Given the description of an element on the screen output the (x, y) to click on. 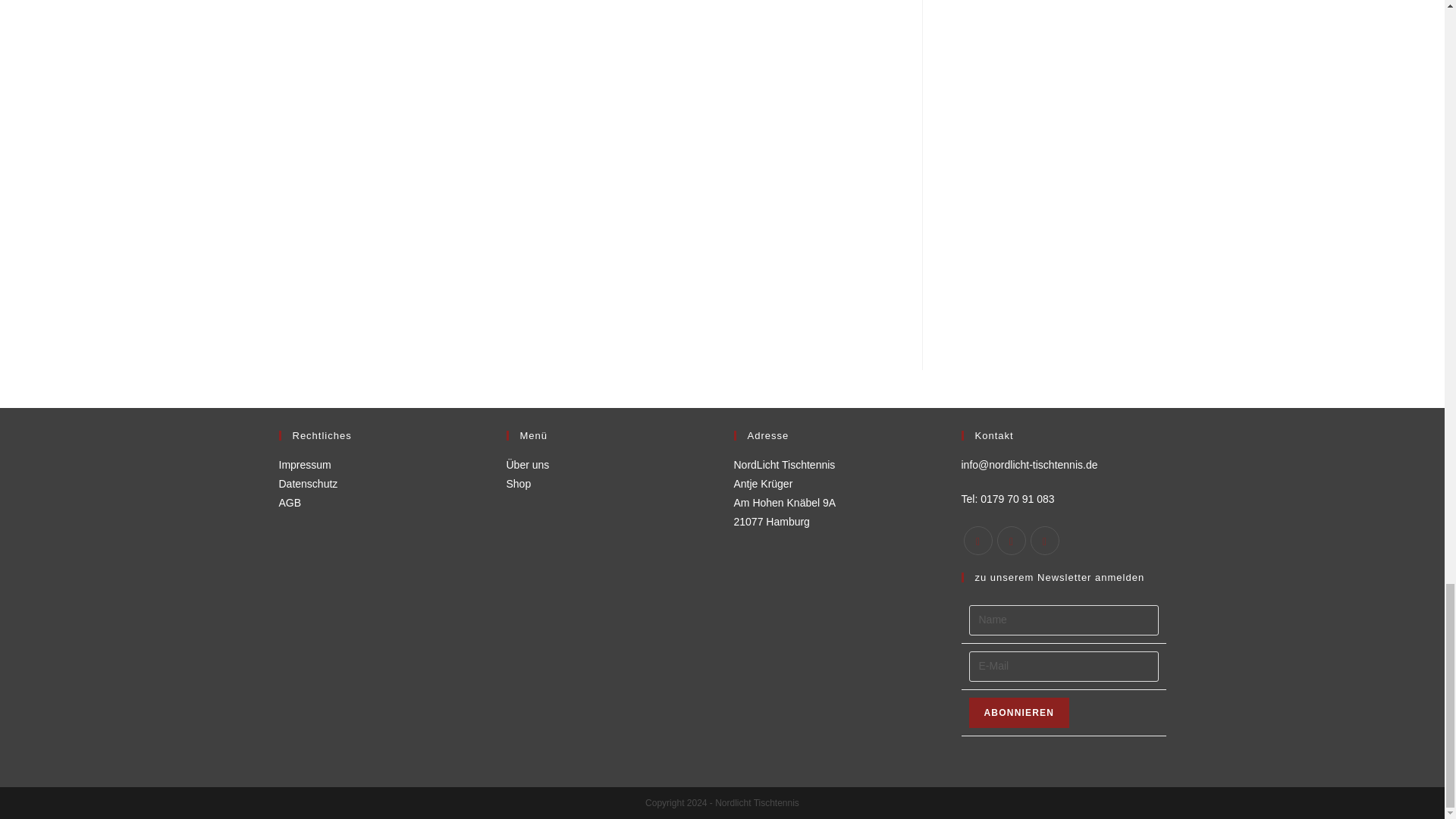
Shop (518, 483)
Abonnieren (1019, 712)
AGB (290, 502)
Datenschutz (308, 483)
Impressum (305, 464)
